Given the description of an element on the screen output the (x, y) to click on. 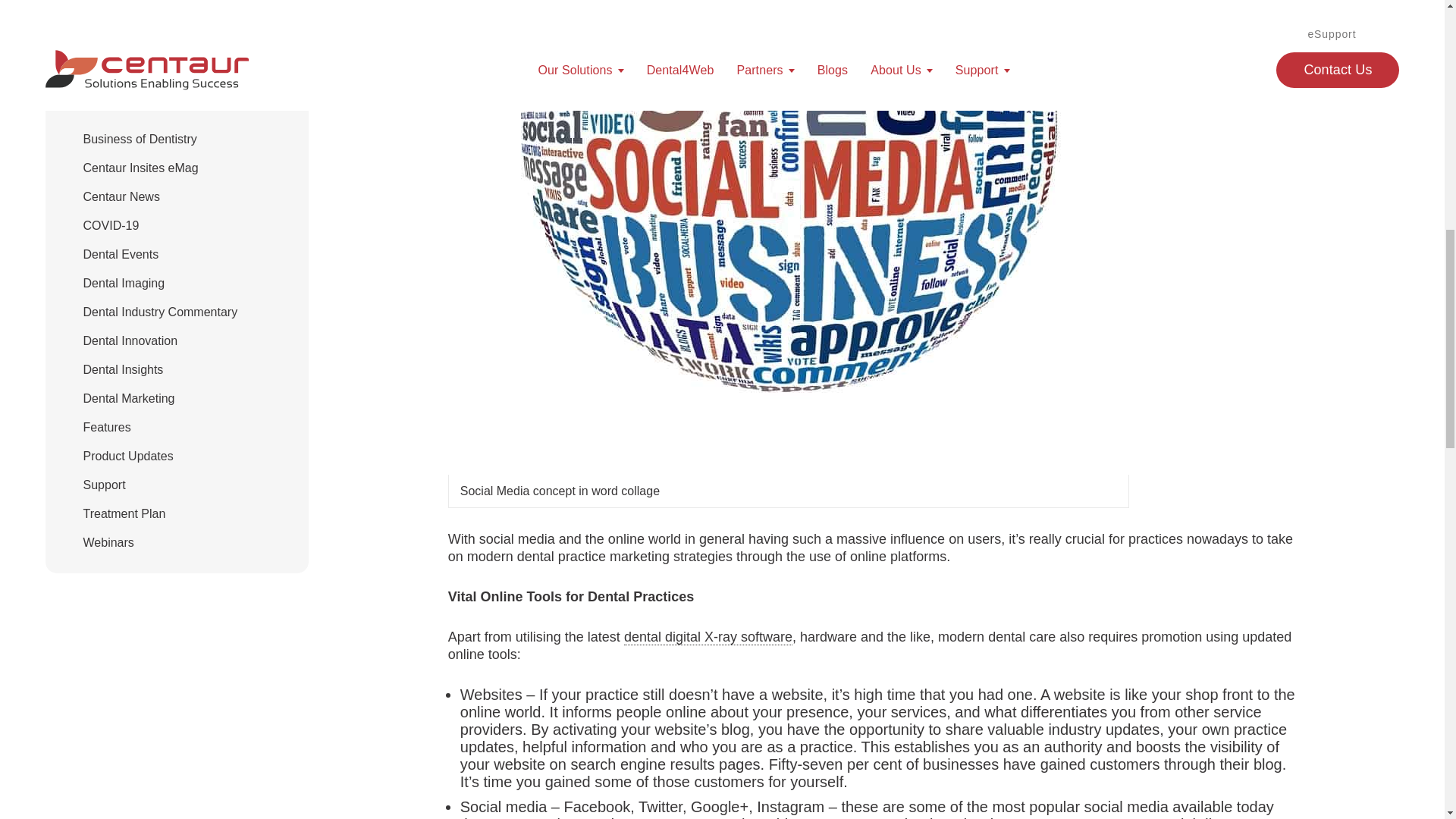
Category 1 (128, 398)
Category 1 (140, 167)
Category 1 (110, 225)
Category 1 (160, 311)
Category 1 (127, 455)
Category 1 (121, 196)
Category 1 (123, 282)
Category 1 (139, 138)
Category 1 (122, 369)
Category 1 (129, 340)
